Given the description of an element on the screen output the (x, y) to click on. 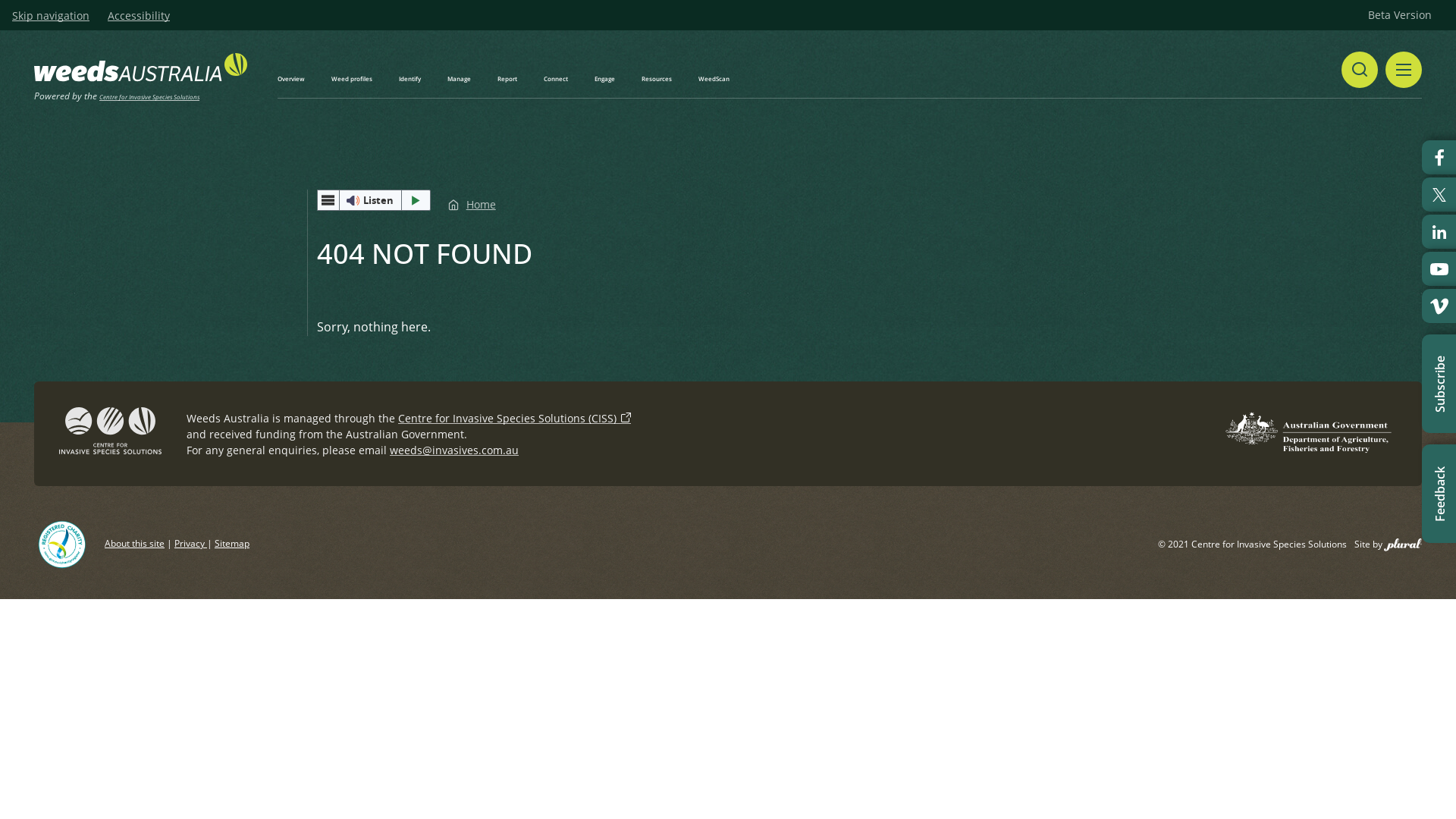
Menu Element type: hover (1403, 69)
Accessibility Element type: text (138, 15)
Manage Element type: text (458, 78)
Home Element type: text (471, 204)
Resources Element type: text (656, 78)
Centre for Invasive Species Solutions (CISS) Element type: text (514, 418)
Privacy Element type: text (190, 542)
Engage Element type: text (604, 78)
Listen Element type: text (373, 199)
Report Element type: text (507, 78)
Overview Element type: text (290, 78)
WeedScan Element type: text (713, 78)
Skip navigation Element type: text (50, 15)
weeds@invasives.com.au Element type: text (453, 449)
Centre for Invasive Species Solutions Element type: text (149, 96)
Weed profiles Element type: text (351, 78)
Sitemap Element type: text (231, 542)
Search the Weeds Australia website Element type: hover (1359, 69)
About this site Element type: text (134, 542)
Identify Element type: text (409, 78)
Connect Element type: text (555, 78)
webReader menu Element type: hover (327, 199)
